Given the description of an element on the screen output the (x, y) to click on. 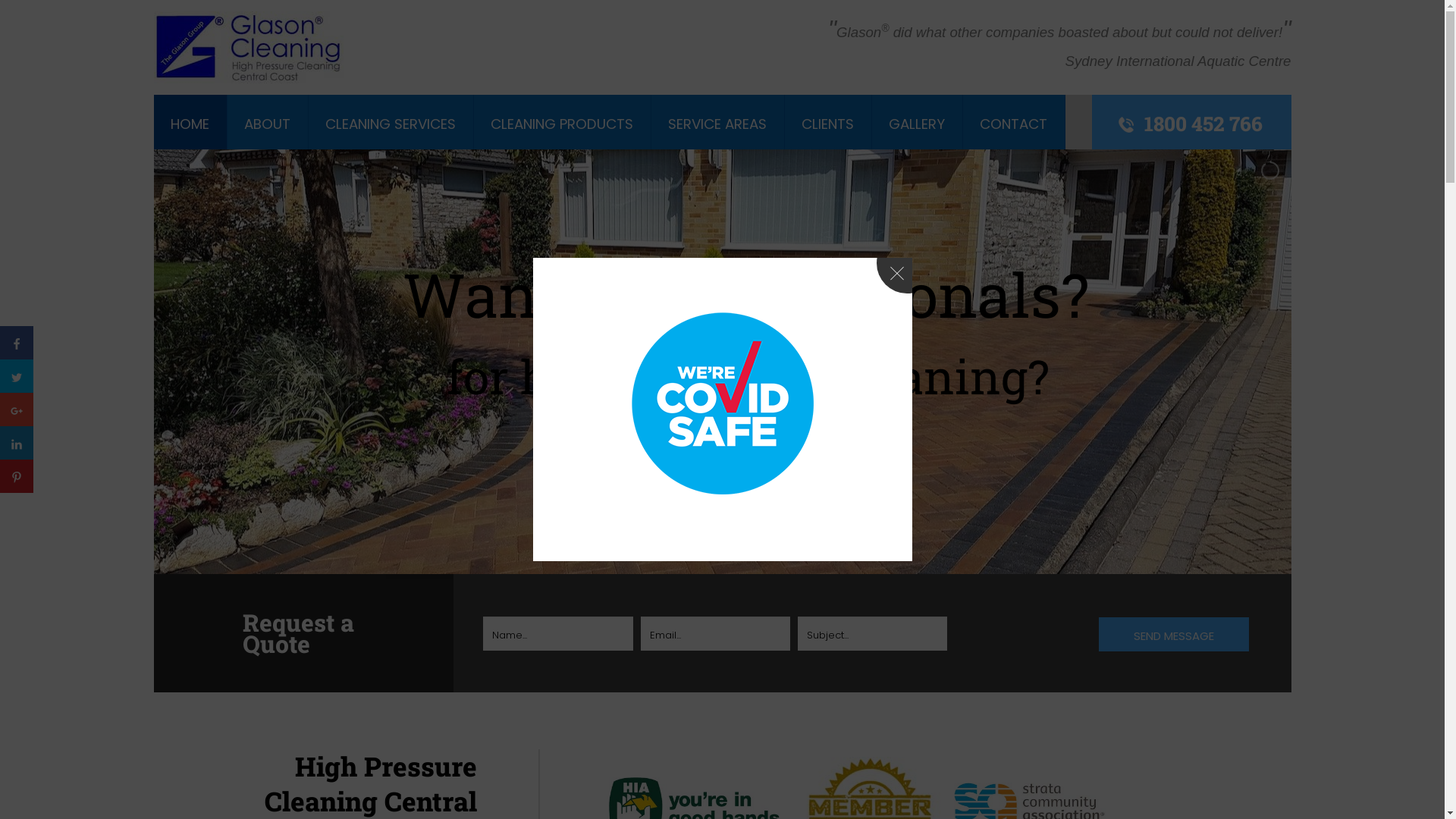
CLEANING SERVICES Element type: text (390, 123)
CLIENTS Element type: text (827, 123)
ABOUT Element type: text (267, 123)
HOME Element type: text (189, 123)
HOME Element type: text (189, 123)
CLEANING SERVICES Element type: text (390, 123)
1800 452 766 Element type: text (1202, 122)
SERVICE AREAS Element type: text (717, 123)
GALLERY Element type: text (916, 123)
Send Message Element type: text (1173, 634)
CLEANING PRODUCTS Element type: text (561, 123)
CONTACT Element type: text (1013, 123)
CLIENTS Element type: text (827, 123)
ABOUT Element type: text (267, 123)
CONTACT Element type: text (1013, 123)
CLEANING PRODUCTS Element type: text (561, 123)
SERVICE AREAS Element type: text (717, 123)
GALLERY Element type: text (916, 123)
